Given the description of an element on the screen output the (x, y) to click on. 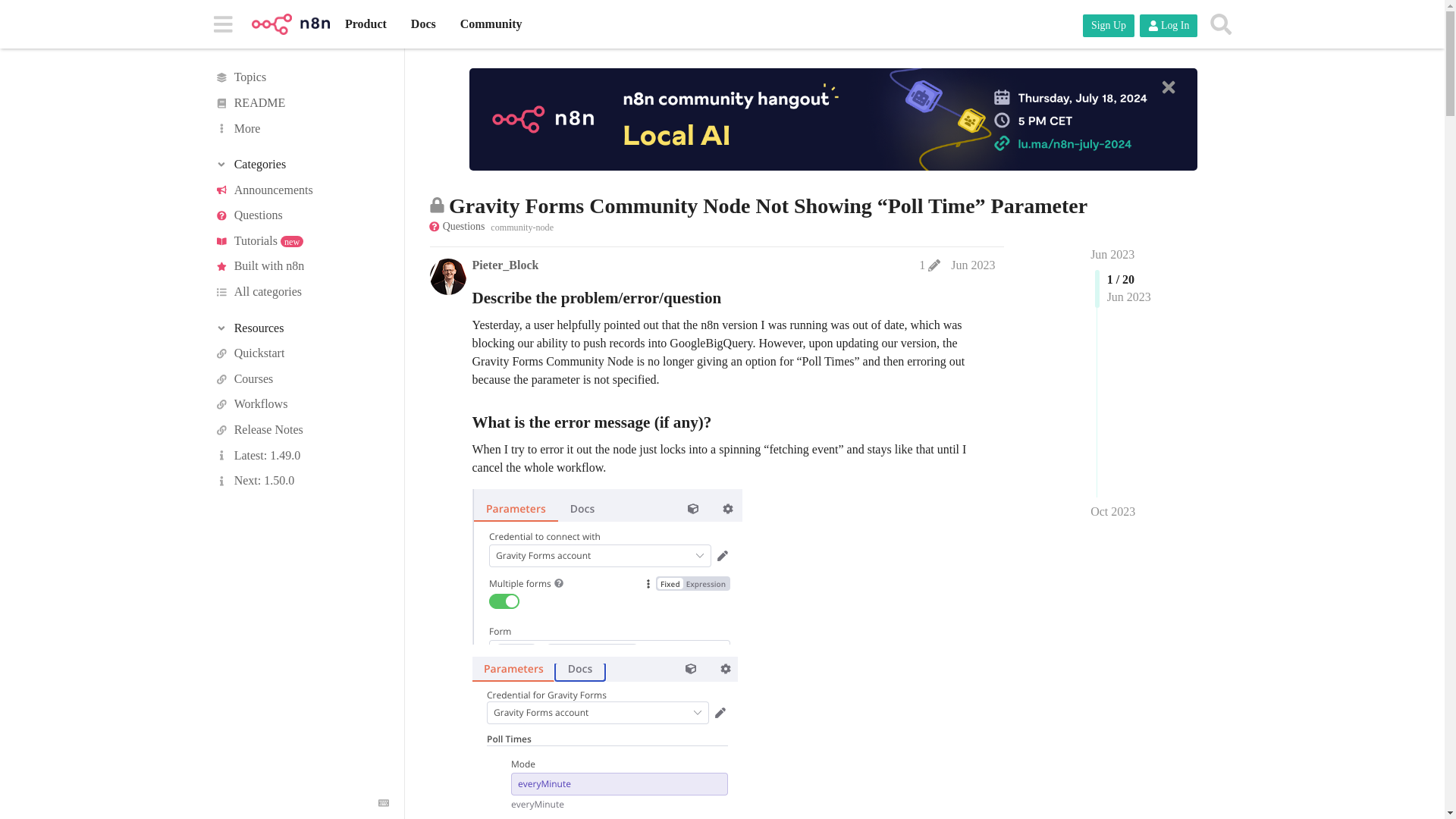
Sidebar (222, 23)
Release Notes (301, 429)
Resources (301, 328)
Sign Up (1108, 25)
Announcements (301, 190)
community-node (521, 226)
Jun 2023 (1112, 254)
Topics (301, 77)
Docs (422, 24)
Latest: 1.49.0 (301, 455)
All topics (301, 77)
Product (366, 24)
More (301, 128)
README (301, 103)
Community (491, 24)
